Given the description of an element on the screen output the (x, y) to click on. 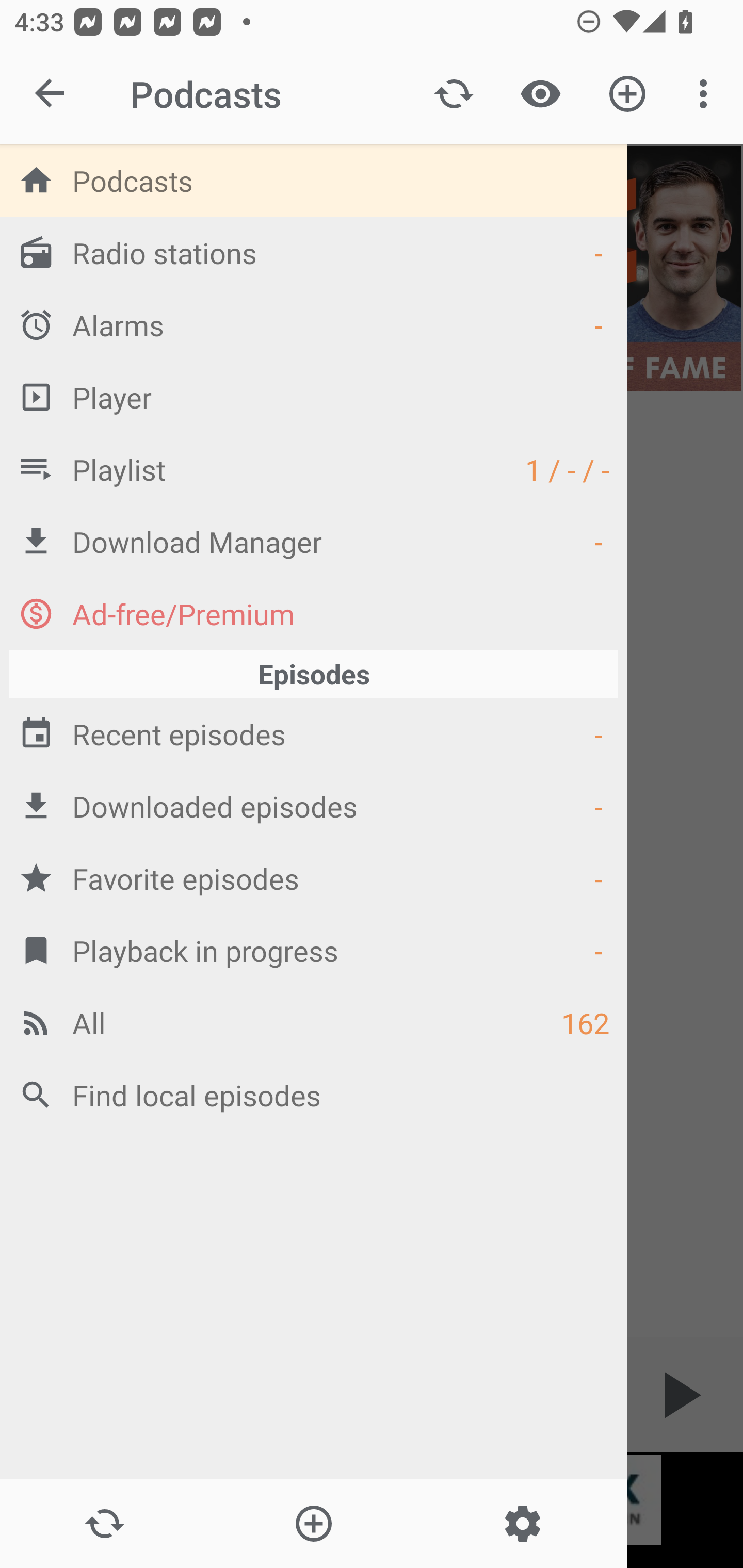
Close navigation sidebar (50, 93)
Update (453, 93)
Show / Hide played content (540, 93)
Add new Podcast (626, 93)
More options (706, 93)
Podcasts (313, 180)
Radio stations  -  (313, 252)
Alarms  -  (313, 324)
Player (313, 396)
Playlist 1 / - / - (313, 468)
Download Manager  -  (313, 540)
Ad-free/Premium (313, 613)
Recent episodes  -  (313, 733)
Downloaded episodes  -  (313, 805)
Favorite episodes  -  (313, 878)
Playback in progress  -  (313, 950)
All 162 (313, 1022)
Find local episodes (313, 1094)
Update (104, 1523)
Add new Podcast (312, 1523)
Settings (522, 1523)
